Given the description of an element on the screen output the (x, y) to click on. 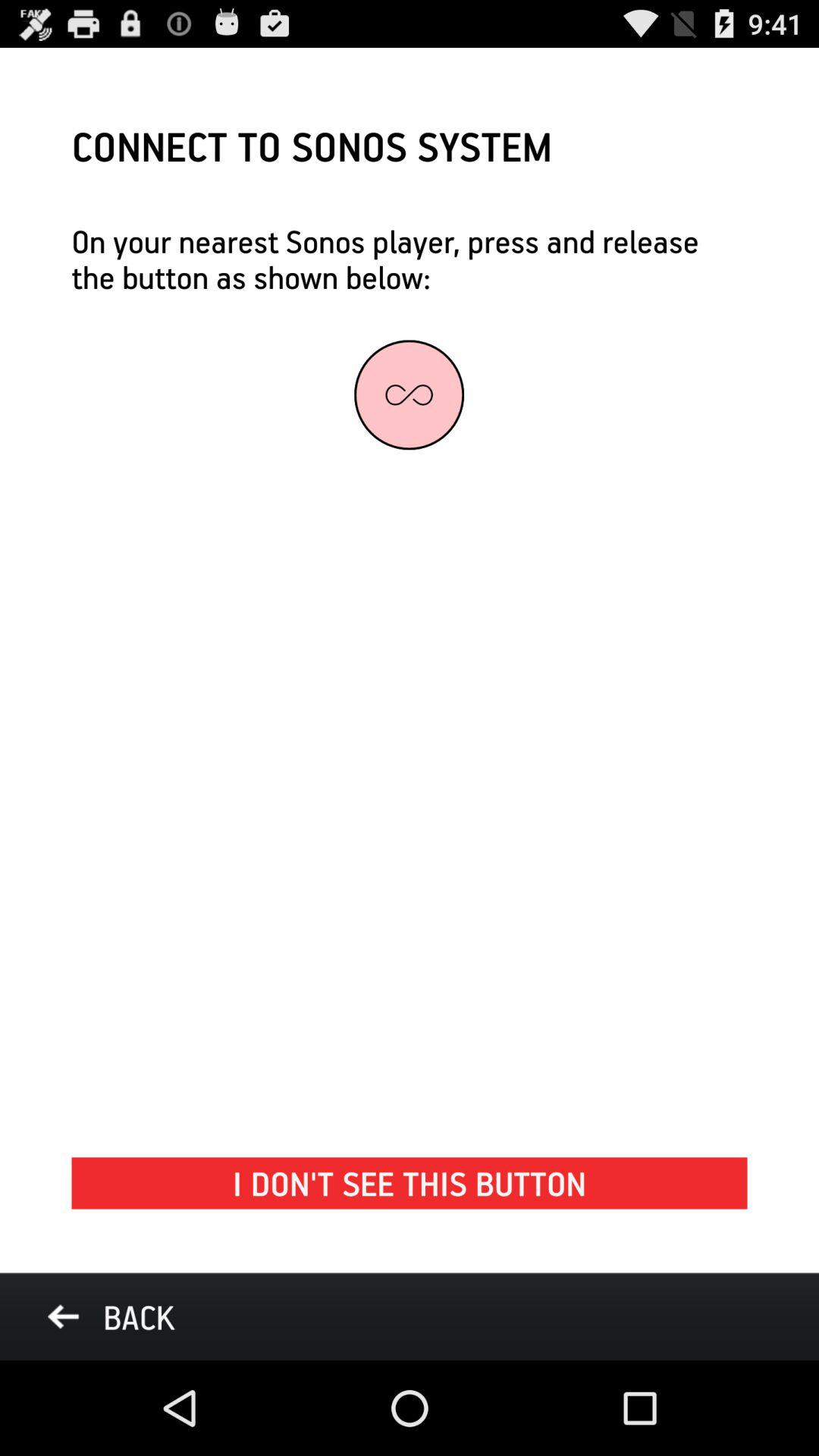
open the icon below i don t item (111, 1316)
